Given the description of an element on the screen output the (x, y) to click on. 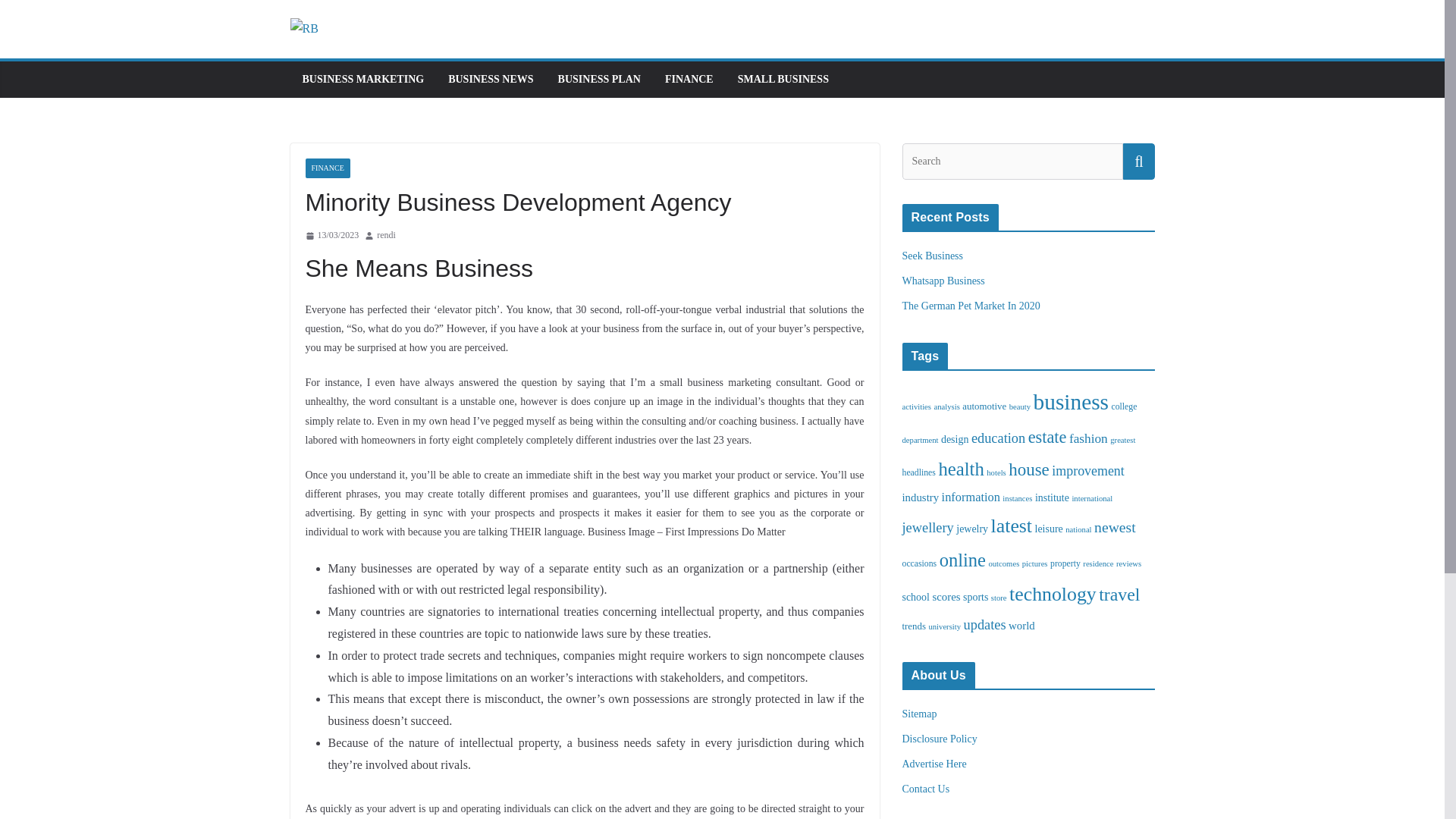
jewellery (927, 527)
beauty (1019, 406)
06:17 (331, 235)
industry (920, 497)
improvement (1087, 470)
FINANCE (689, 79)
design (954, 439)
BUSINESS MARKETING (362, 79)
rendi (386, 235)
health (960, 468)
